Given the description of an element on the screen output the (x, y) to click on. 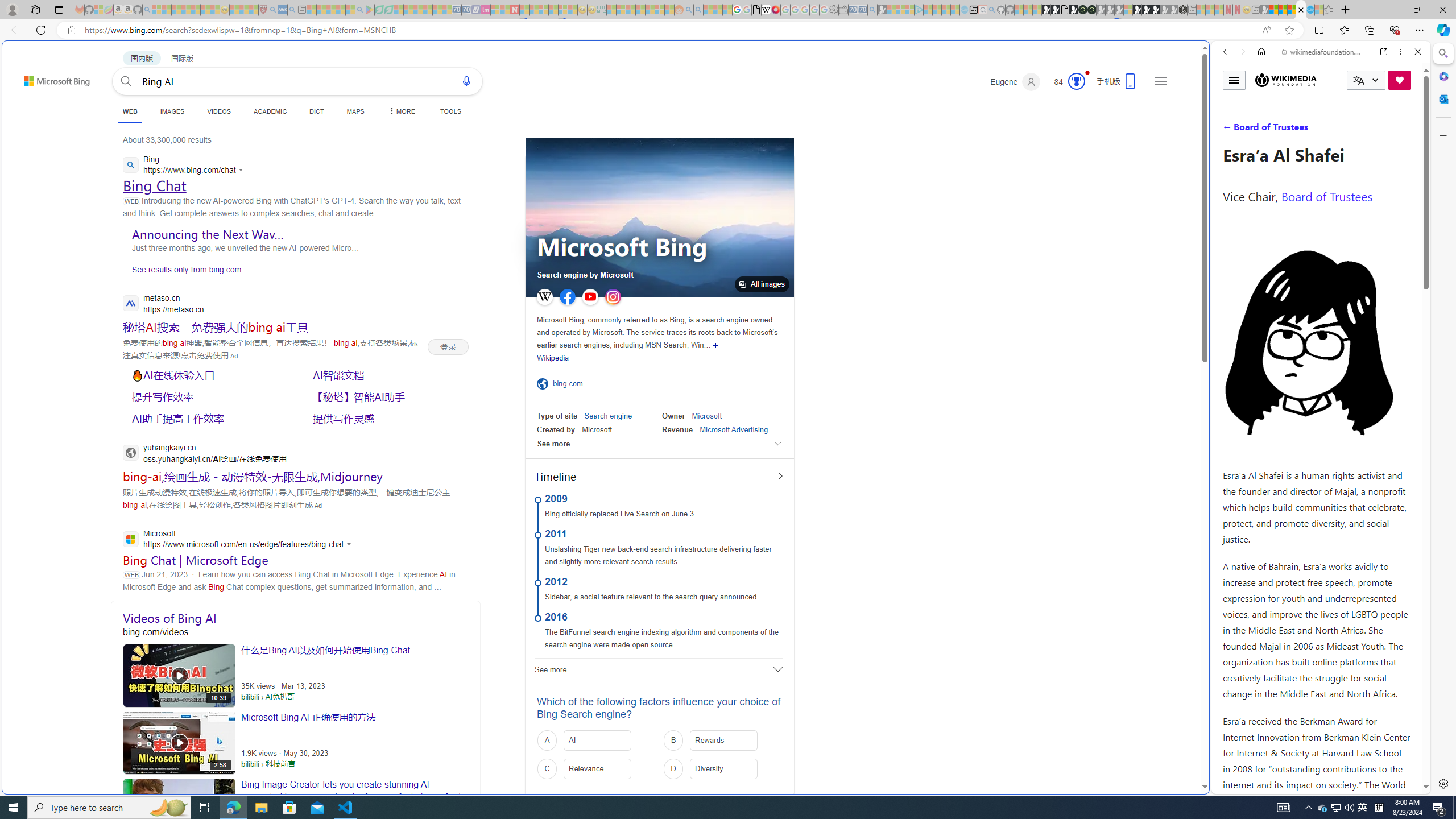
D Diversity (722, 768)
Future Focus Report 2024 (1090, 9)
Search using voice (465, 80)
A AI (596, 740)
Type of site (557, 415)
Donate now (1399, 80)
WEB   (1230, 130)
Target page - Wikipedia (766, 9)
Show more (715, 344)
